Given the description of an element on the screen output the (x, y) to click on. 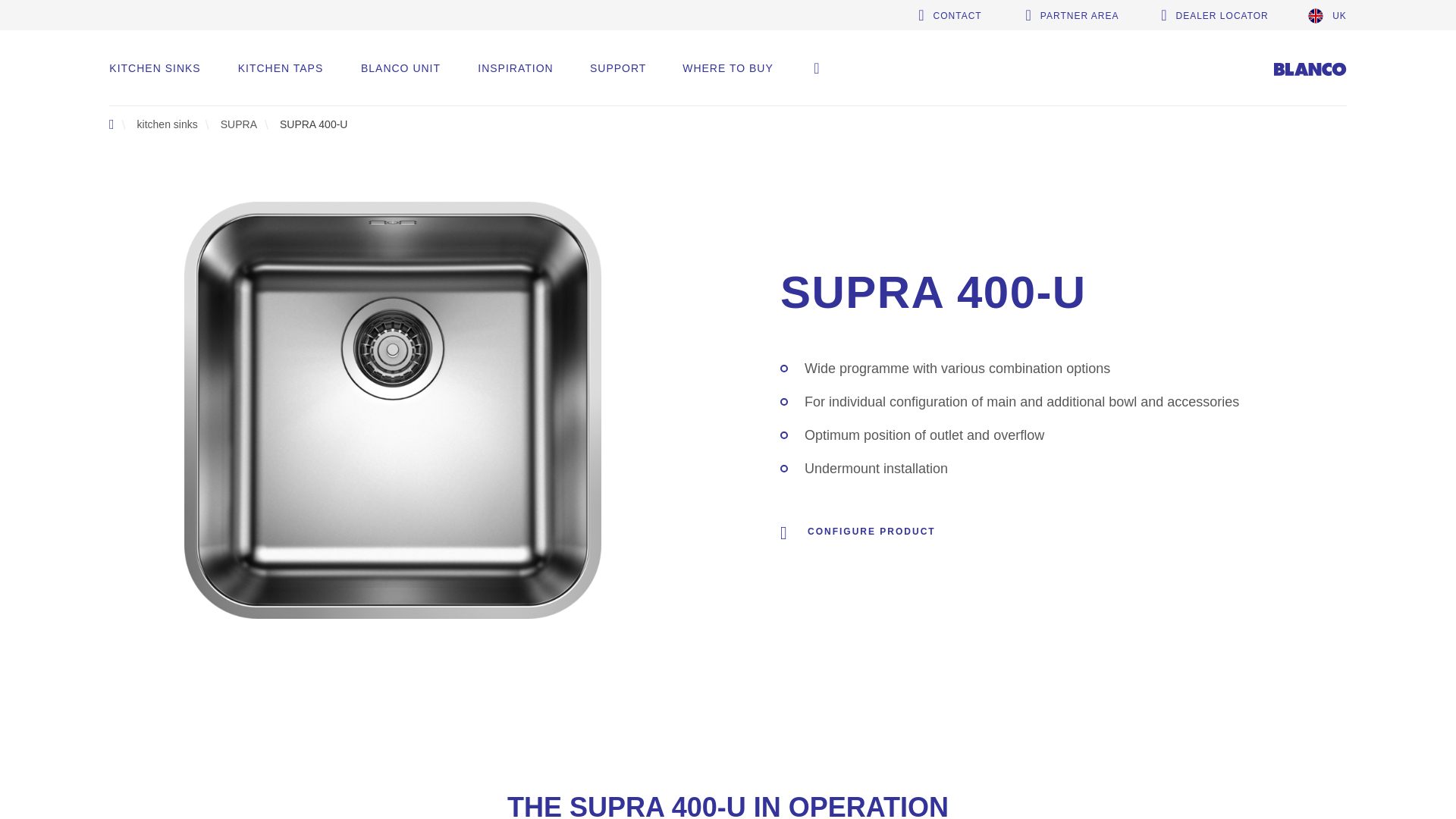
Contact (950, 14)
CONTACT (950, 14)
DEALER LOCATOR (1214, 14)
Search (816, 68)
Dealer locator (1214, 14)
Language Flyout (1326, 15)
PARTNER AREA (1072, 14)
Partner Area (1072, 14)
